Given the description of an element on the screen output the (x, y) to click on. 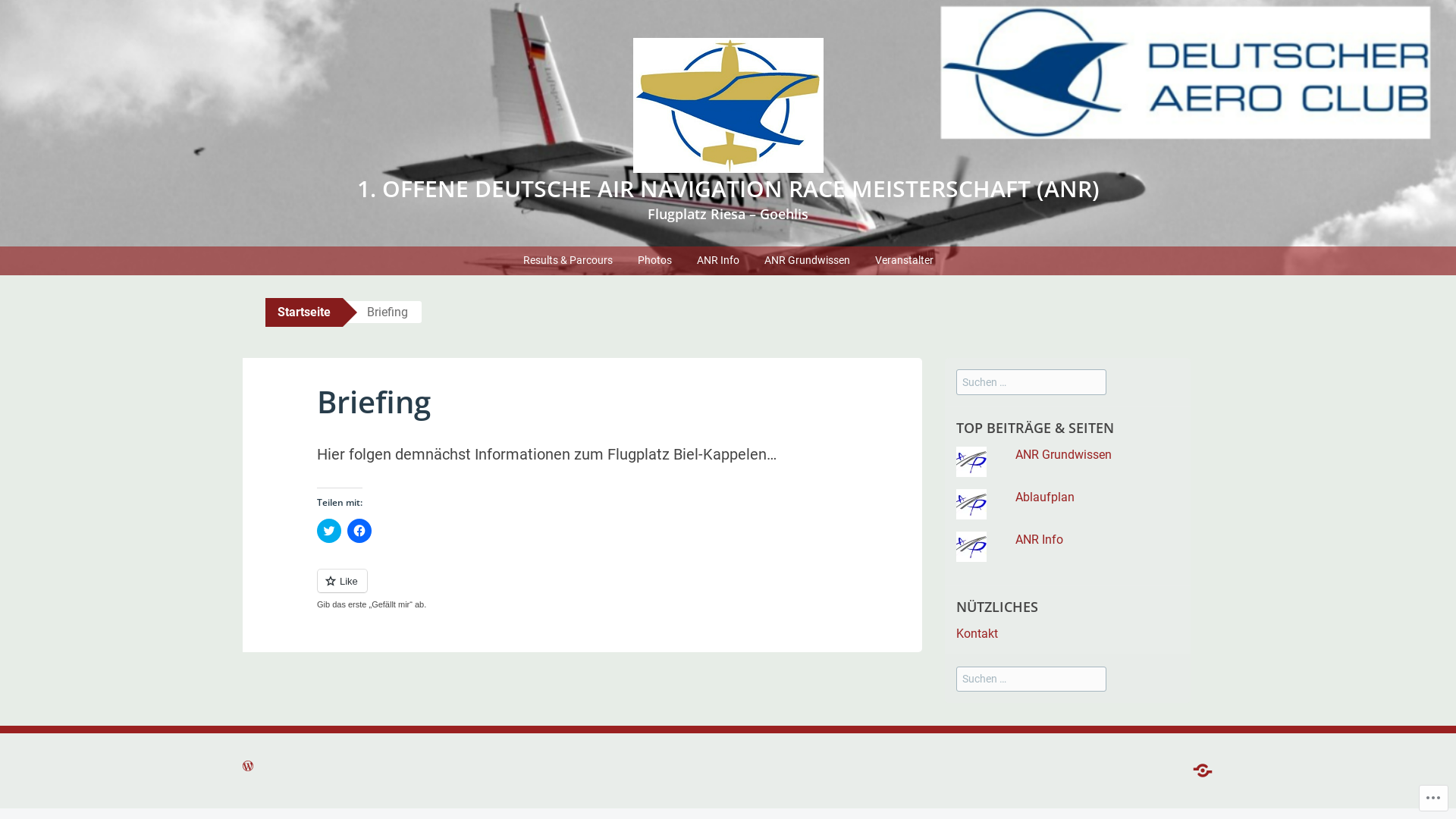
ANR Grundwissen Element type: text (806, 260)
ANR Info Element type: text (717, 260)
Kontakt Element type: text (976, 633)
Veranstalter Element type: text (903, 260)
ANR Grundwissen Element type: text (1063, 454)
Erstelle eine Website oder ein Blog auf WordPress.com Element type: text (247, 766)
Liken oder rebloggen Element type: hover (581, 589)
Ablaufplan Element type: text (1044, 496)
Results & Parcours Element type: text (567, 260)
Photos Element type: text (654, 260)
1. OFFENE DEUTSCHE AIR NAVIGATION RACE MEISTERSCHAFT (ANR) Element type: text (727, 187)
ANR Info Element type: text (1039, 539)
Suche Element type: text (28, 13)
Startseite Element type: text (303, 312)
